Given the description of an element on the screen output the (x, y) to click on. 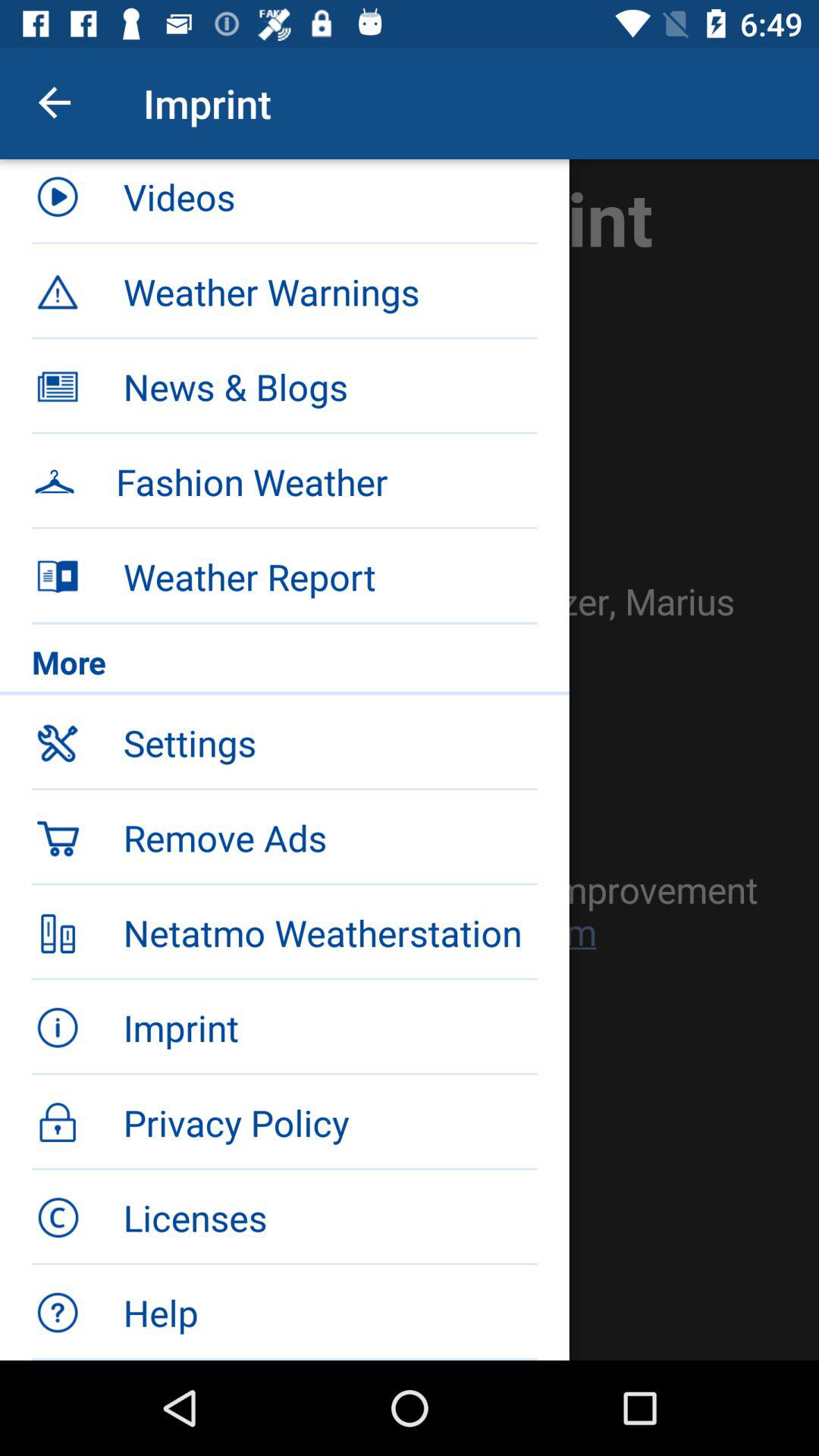
choose the icon below the news & blogs item (326, 481)
